Given the description of an element on the screen output the (x, y) to click on. 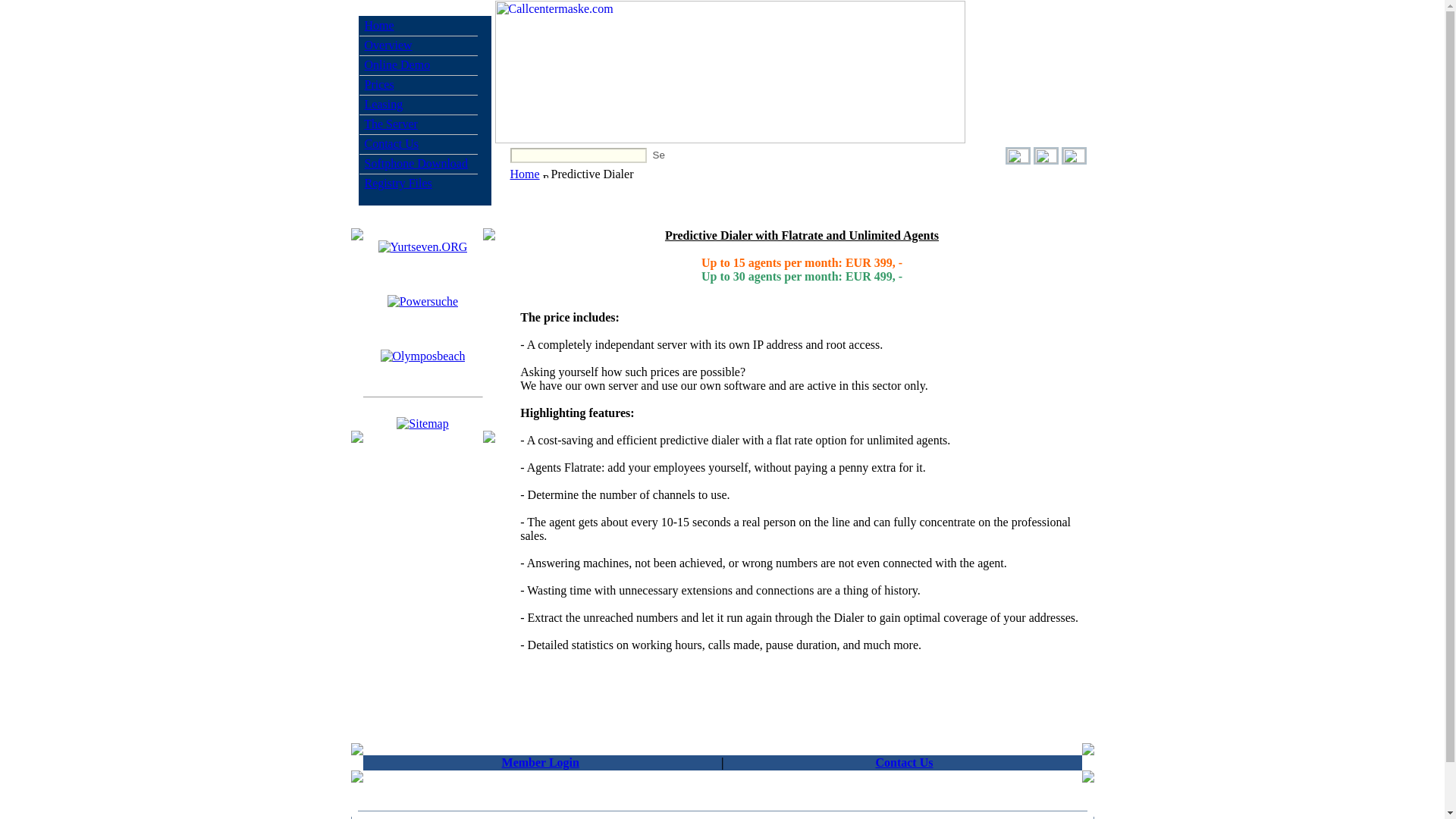
Leasing (383, 103)
Deutsch (1045, 154)
Online Demo (396, 64)
Registry Files (397, 182)
The Server (390, 123)
English (1018, 154)
Contact Us (904, 762)
Prices (378, 83)
Softphone Download (415, 163)
Contact Us (391, 143)
